Given the description of an element on the screen output the (x, y) to click on. 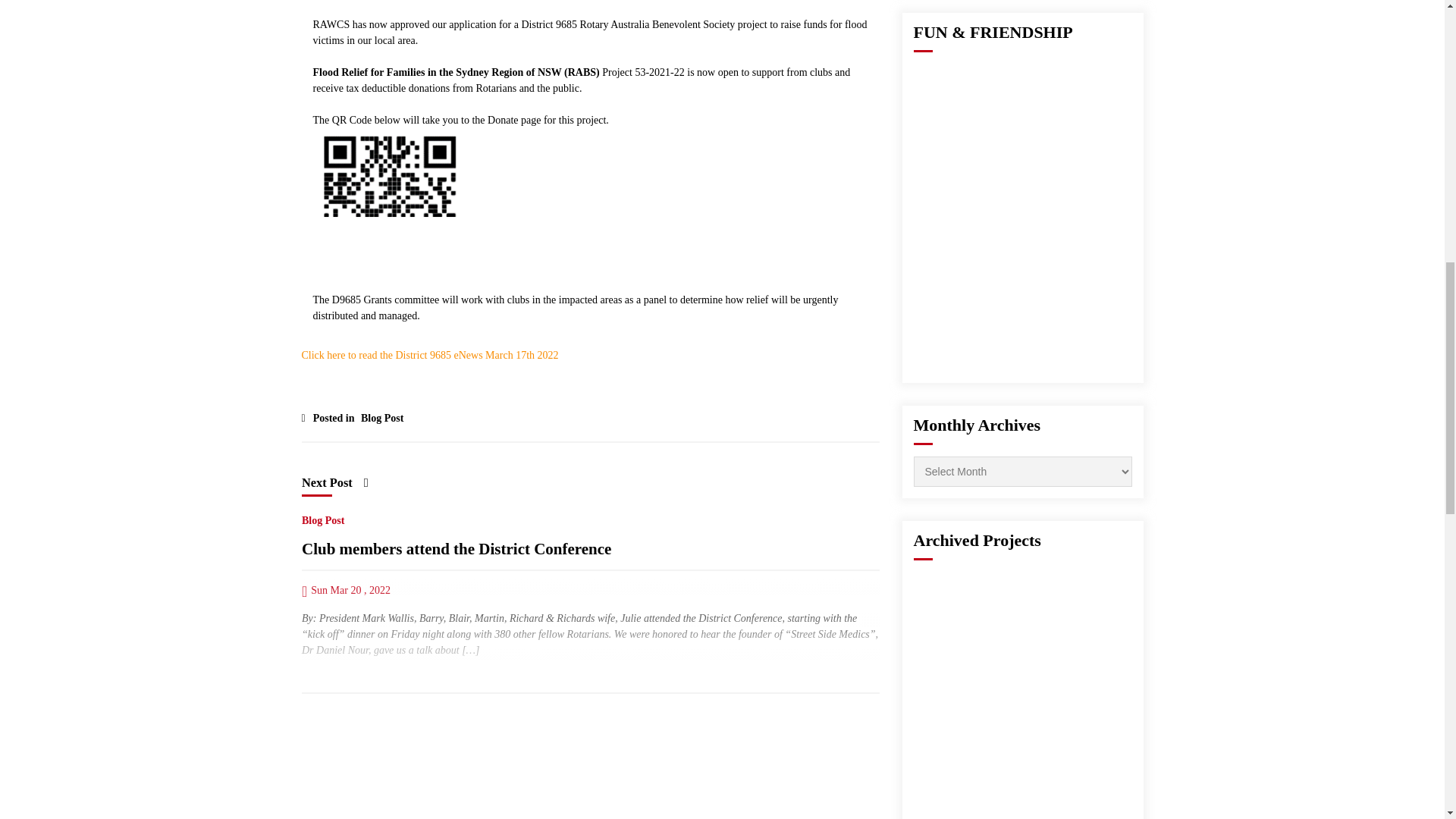
Archived Projects (976, 539)
Blog Post (322, 517)
Next Post (334, 482)
Club members attend the District Conference (456, 549)
Blog Post (379, 414)
Click here to read the District 9685 eNews March 17th 2022 (430, 355)
Project 53-2021-22  (644, 71)
